Given the description of an element on the screen output the (x, y) to click on. 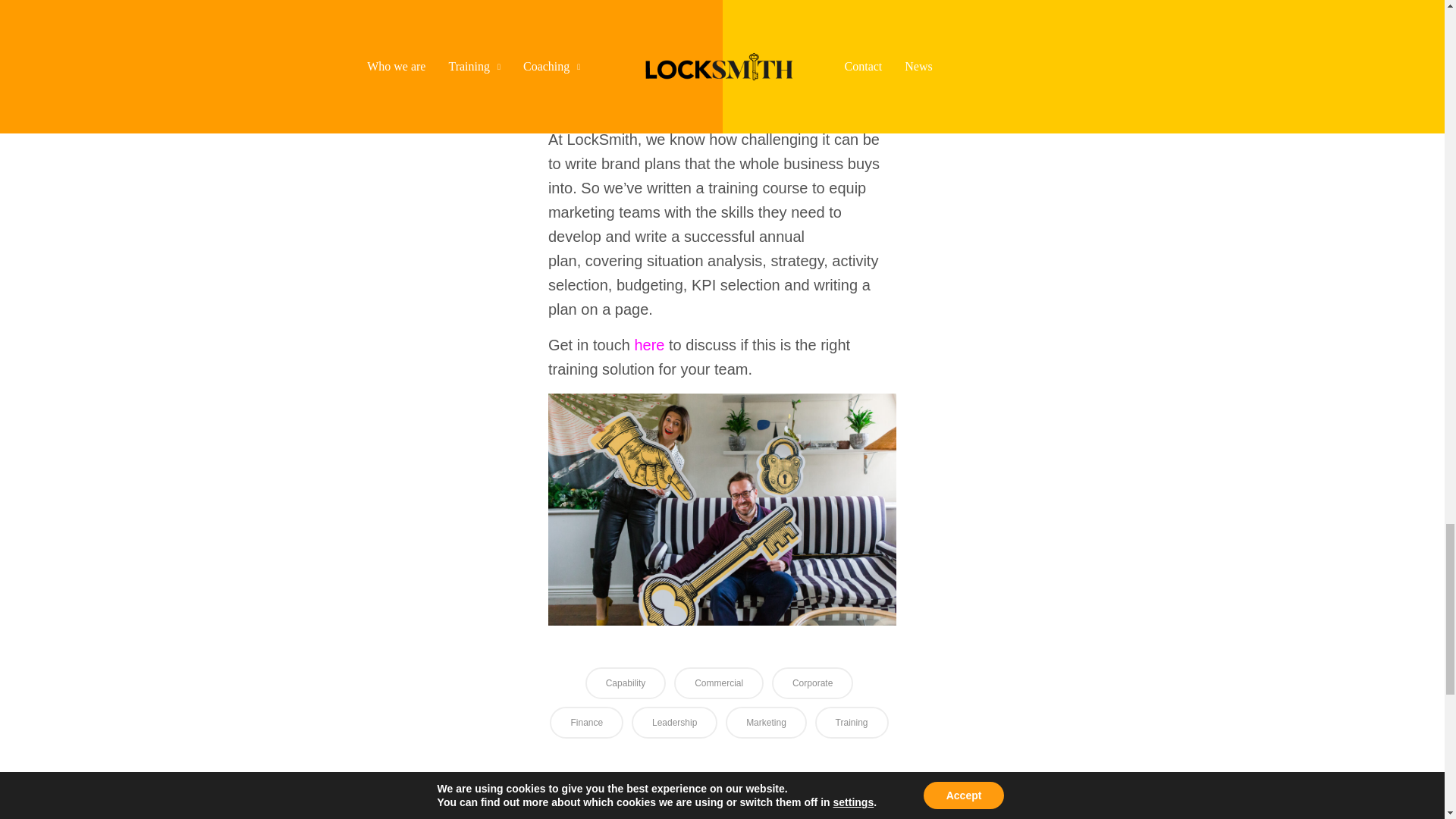
Leadership (674, 722)
Capability (625, 683)
here (648, 344)
Training (851, 722)
Marketing (765, 722)
Commercial (718, 683)
Corporate (812, 683)
Finance (586, 722)
